Given the description of an element on the screen output the (x, y) to click on. 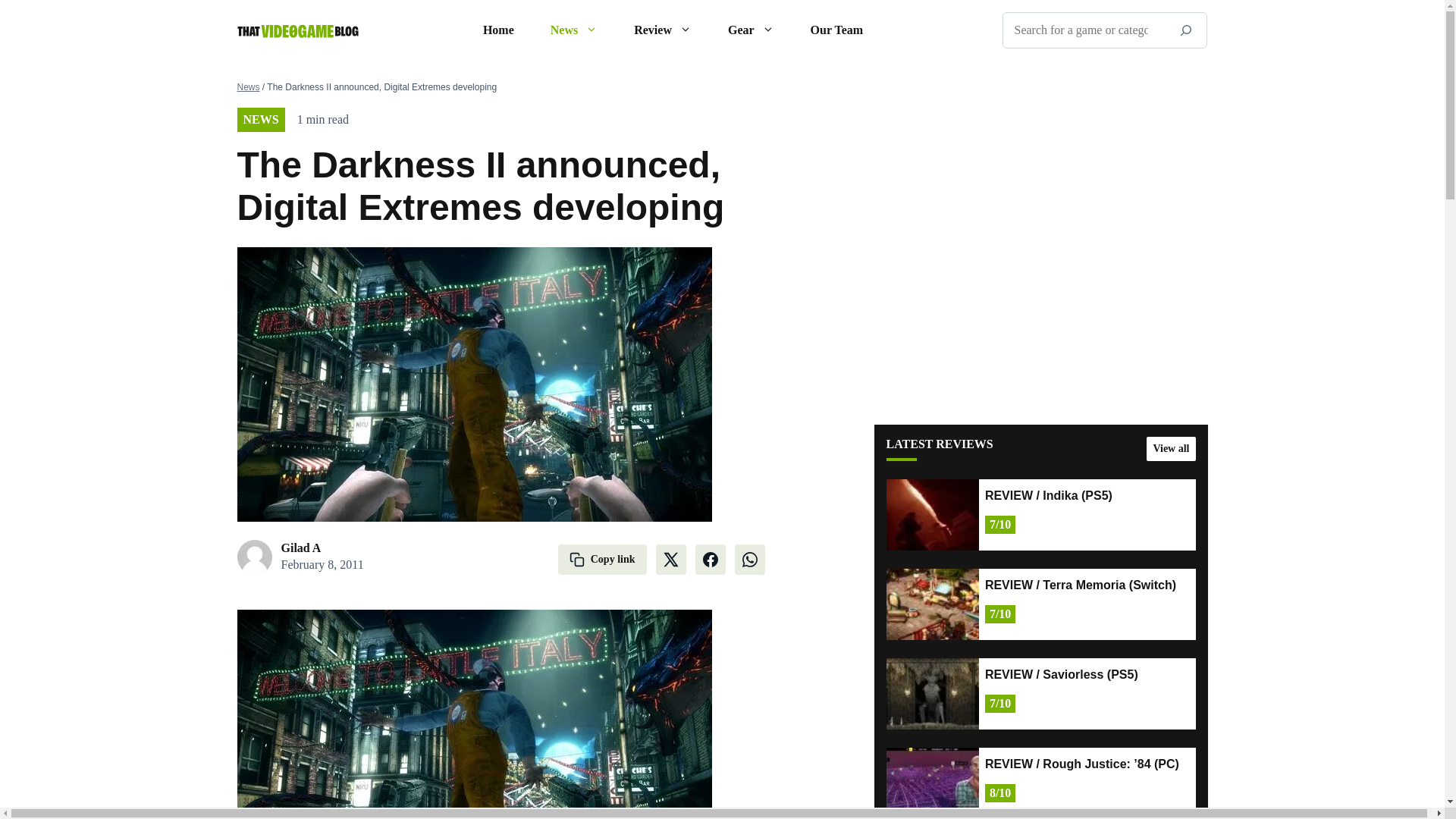
Review (662, 29)
News (573, 29)
Gear (751, 29)
Home (498, 29)
